Given the description of an element on the screen output the (x, y) to click on. 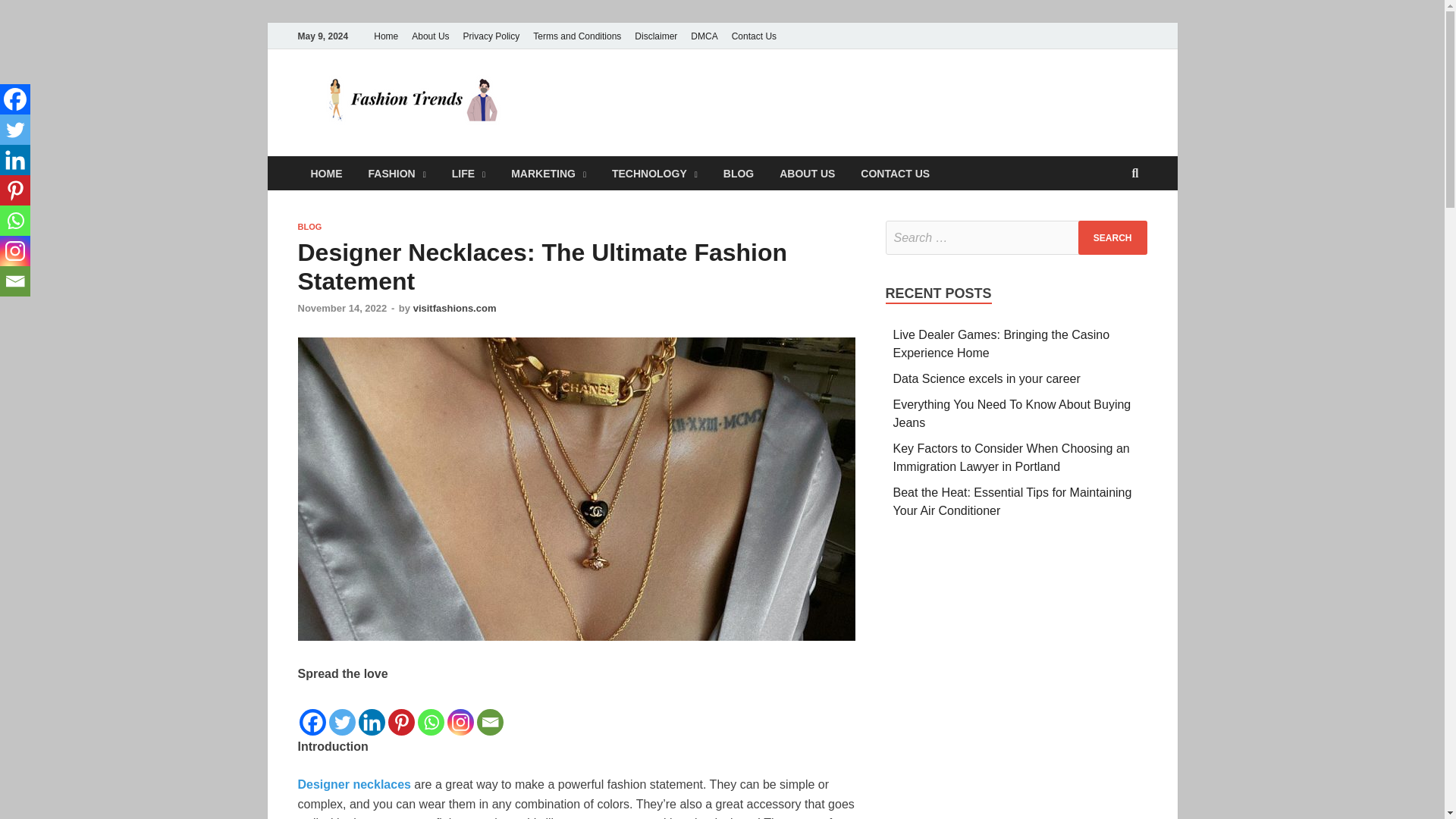
Twitter (15, 129)
Linkedin (15, 159)
Instagram (15, 250)
Privacy Policy (492, 35)
Contact Us (754, 35)
HOME (326, 173)
Whatsapp (15, 220)
DMCA (703, 35)
Pinterest (15, 190)
Search (1112, 237)
